Given the description of an element on the screen output the (x, y) to click on. 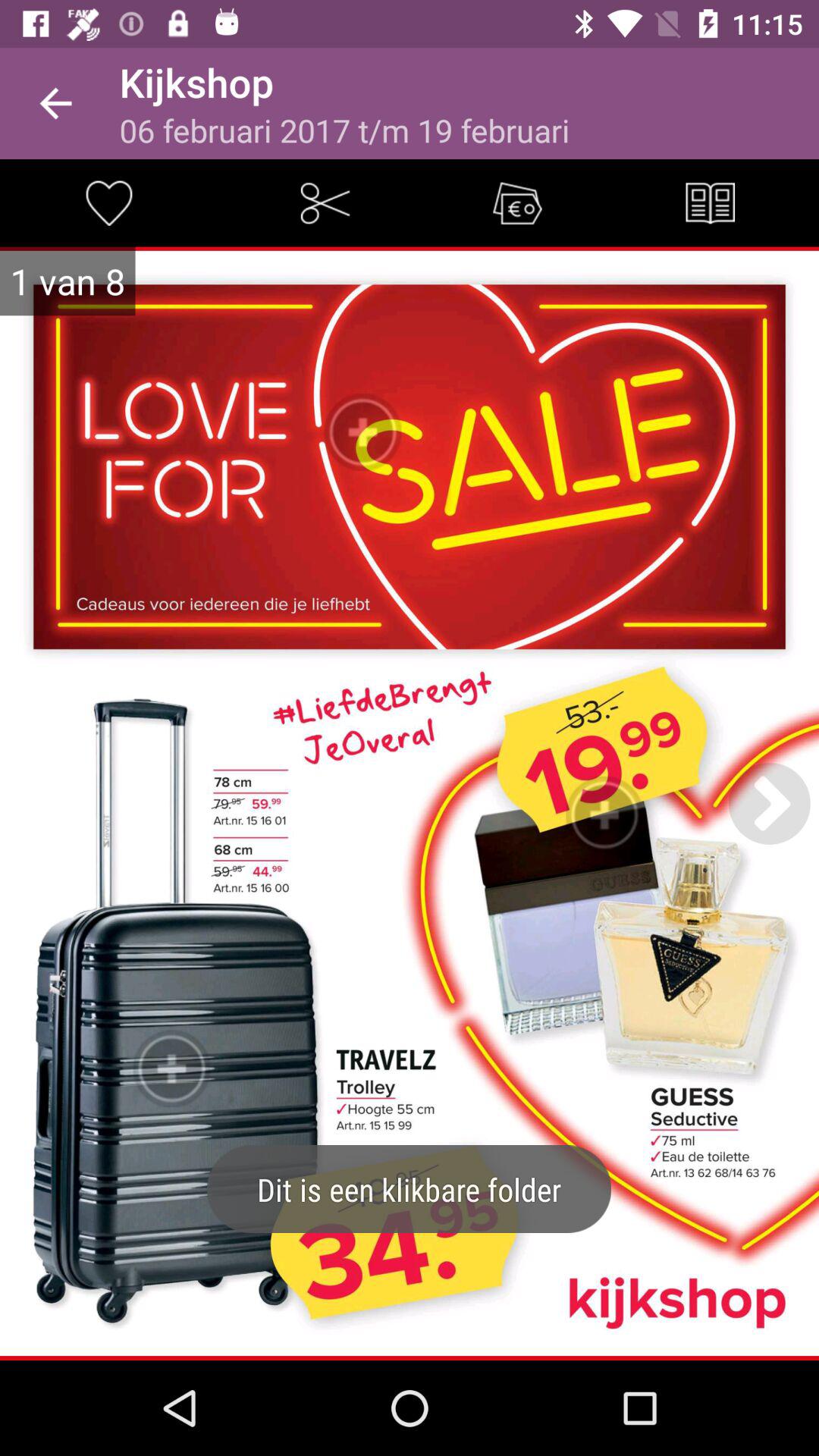
favorite this item (108, 202)
